Given the description of an element on the screen output the (x, y) to click on. 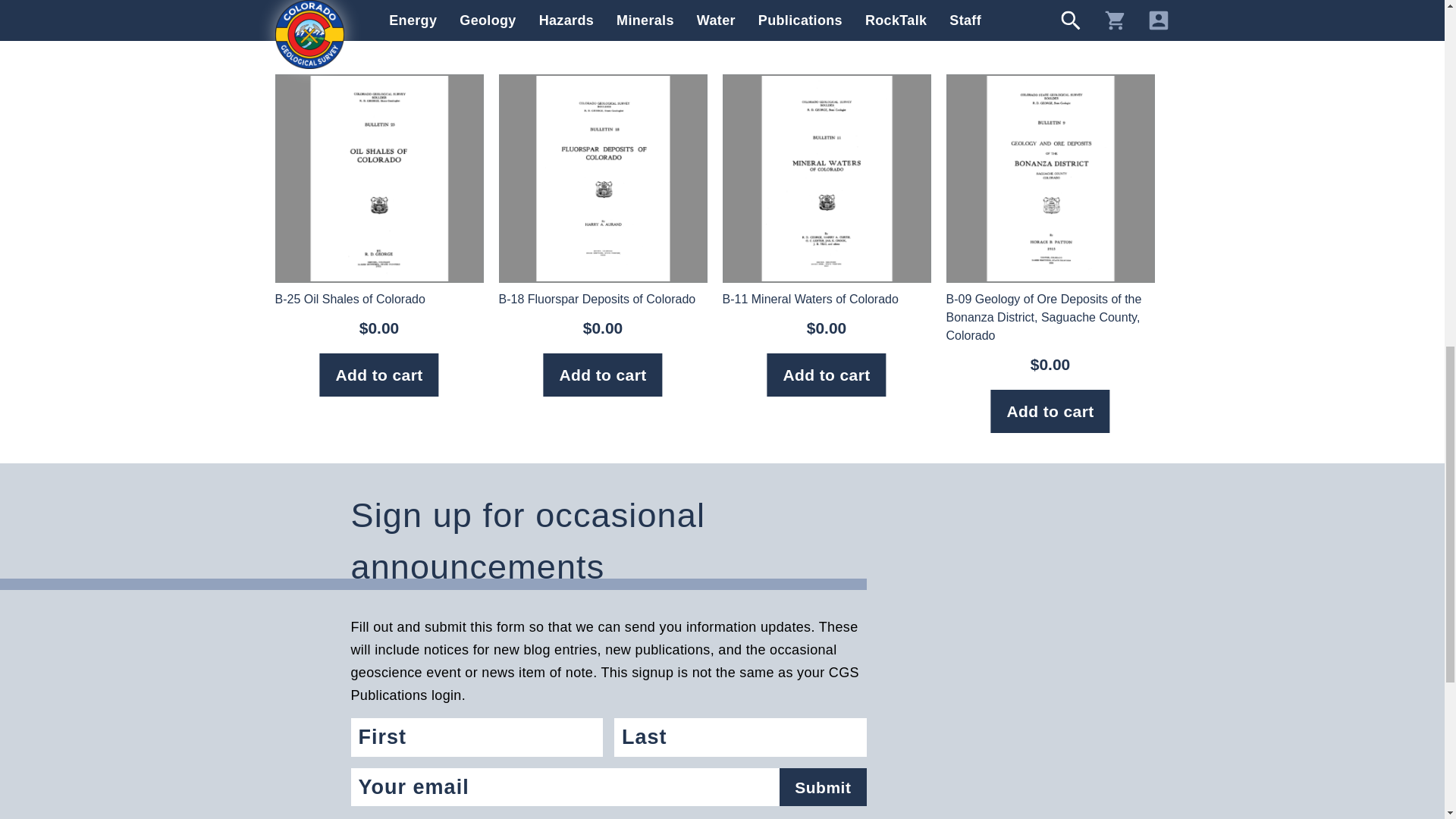
Submit (822, 786)
